Given the description of an element on the screen output the (x, y) to click on. 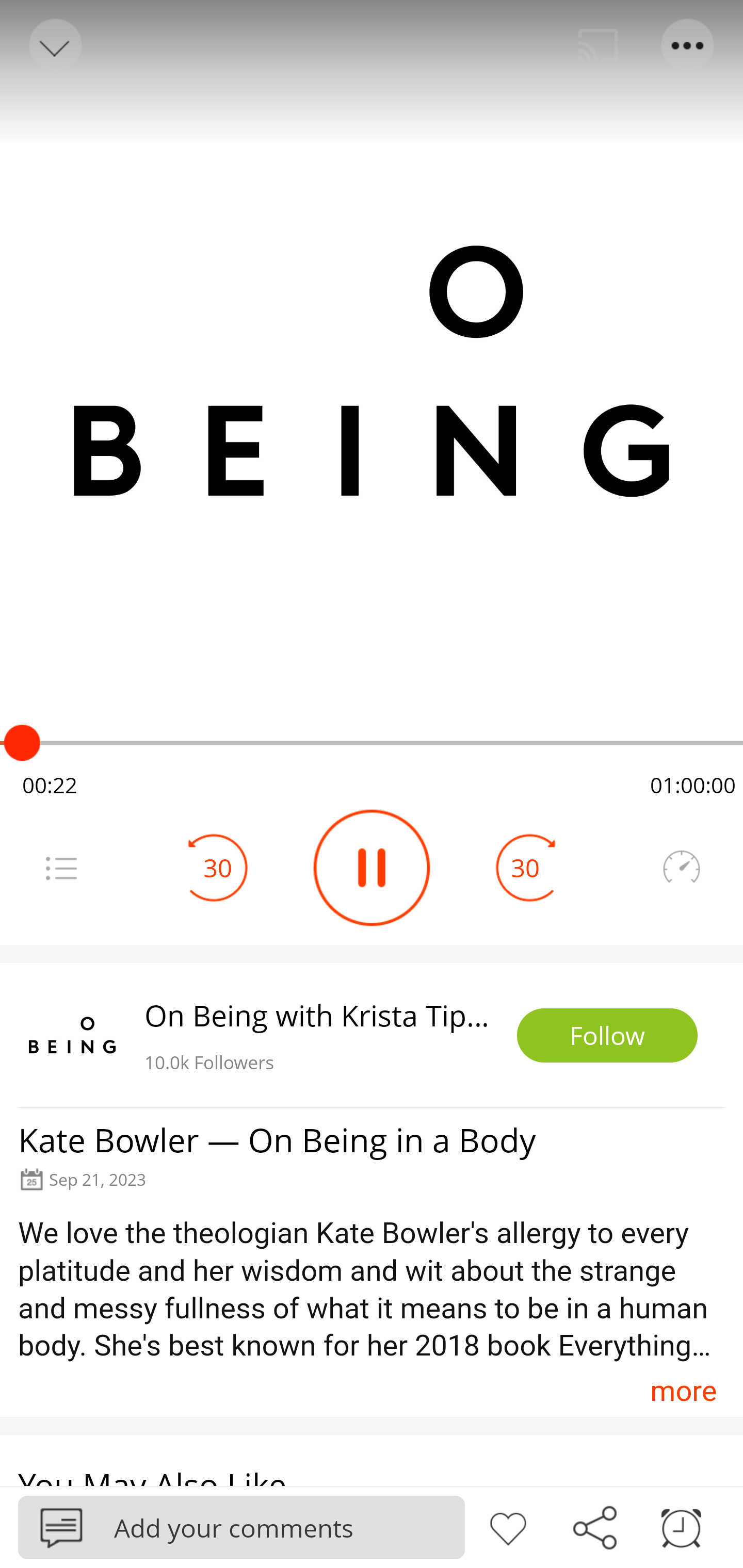
Back (53, 45)
Cast. Disconnected (597, 45)
Menu (688, 45)
Play (371, 867)
30 Seek Backward (217, 867)
30 Seek Forward (525, 867)
Menu (60, 867)
Speedometer (681, 867)
Follow (607, 1035)
more (682, 1390)
Like (508, 1526)
Share (594, 1526)
Sleep timer (681, 1526)
Podbean Add your comments (241, 1526)
